Given the description of an element on the screen output the (x, y) to click on. 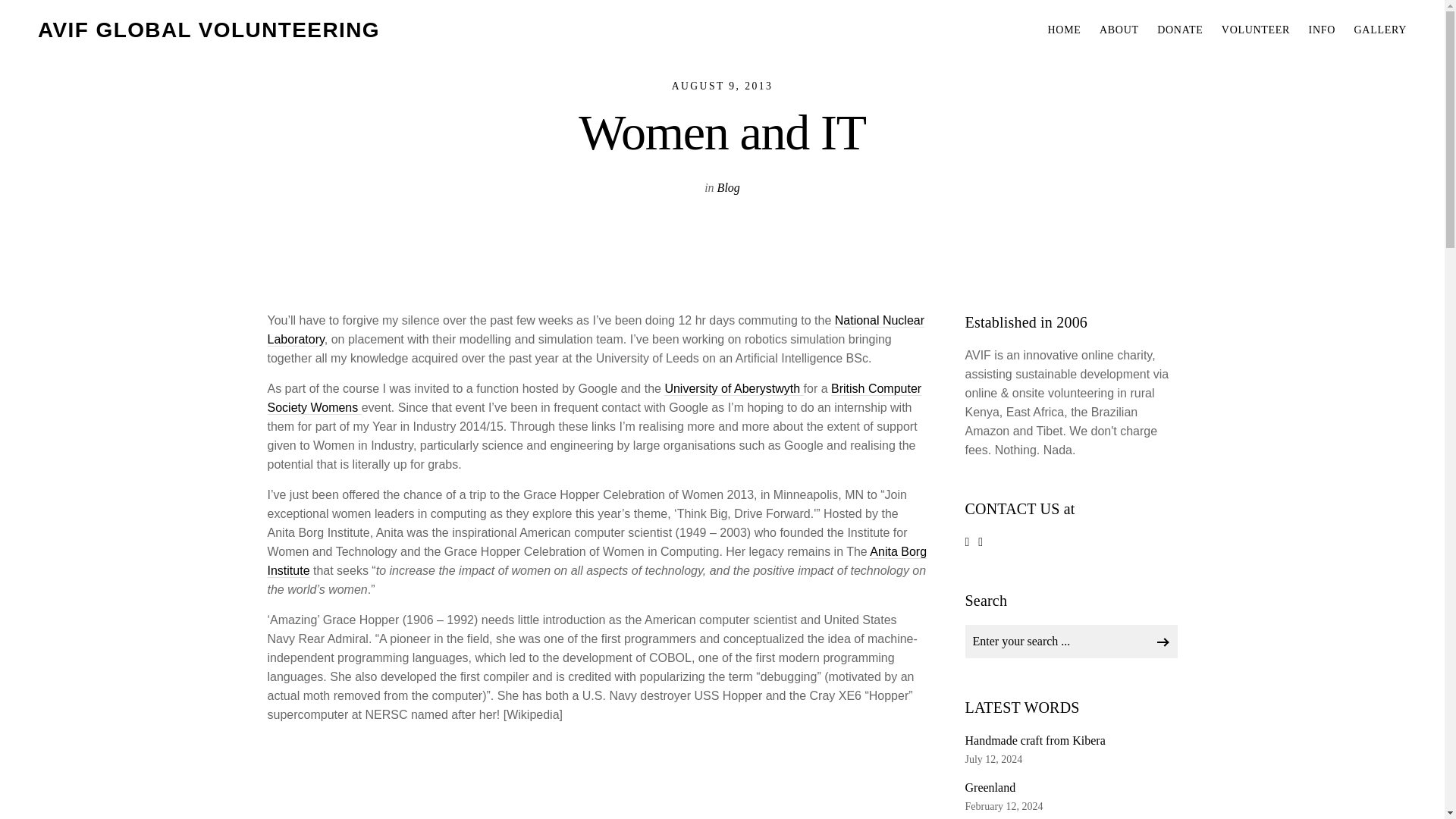
GALLERY (1380, 29)
National Nuclear Laboratory (595, 329)
Greenland (1069, 787)
AVIF GLOBAL VOLUNTEERING (208, 32)
Blog (728, 187)
DONATE (1179, 29)
University of Aberystwyth (733, 388)
Search (1161, 639)
HOME (1064, 29)
VOLUNTEER (1255, 29)
